Given the description of an element on the screen output the (x, y) to click on. 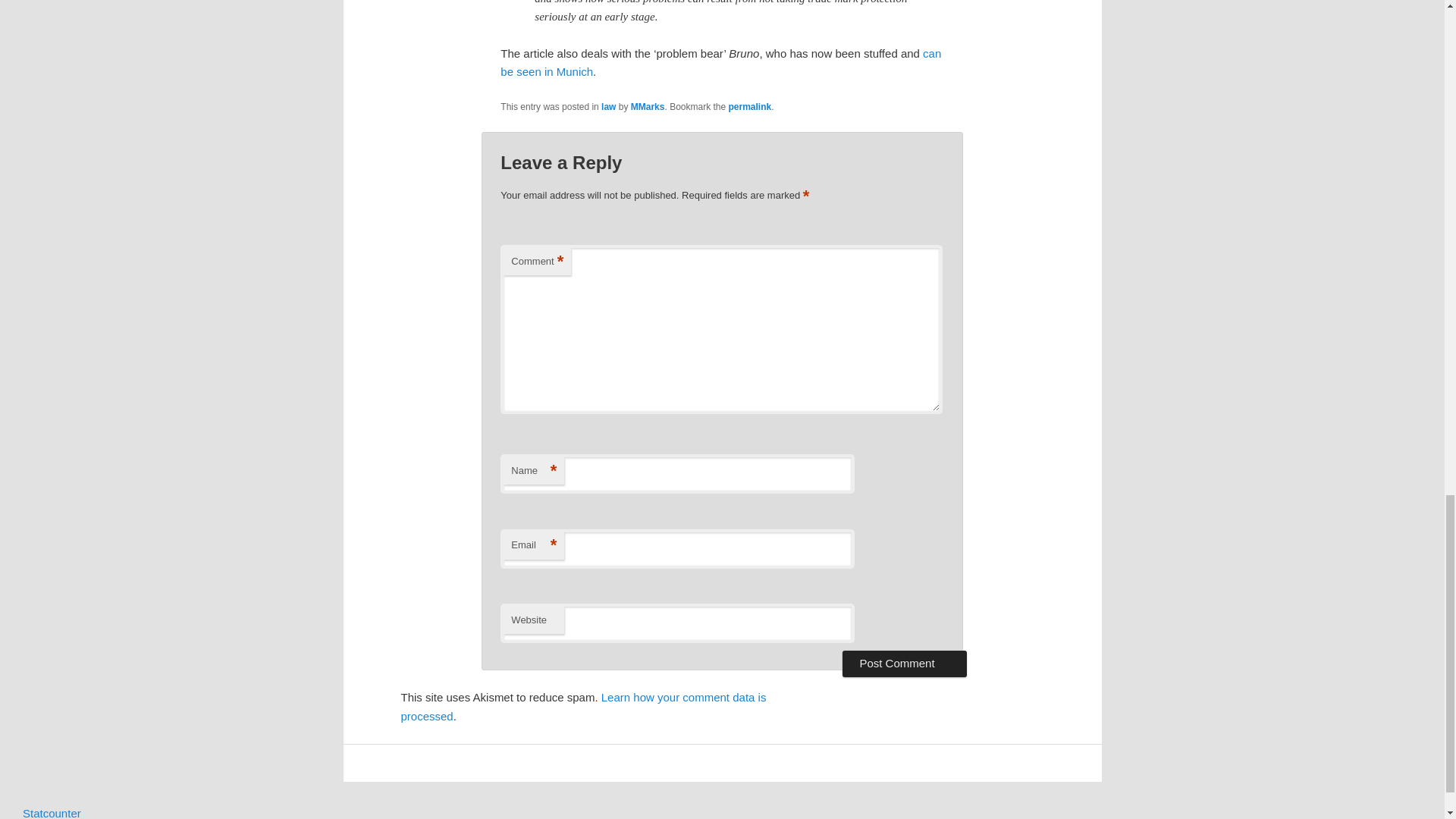
permalink (750, 106)
Learn how your comment data is processed (582, 706)
can be seen in Munich (720, 61)
Post Comment (904, 663)
MMarks (647, 106)
law (608, 106)
Post Comment (904, 663)
